Given the description of an element on the screen output the (x, y) to click on. 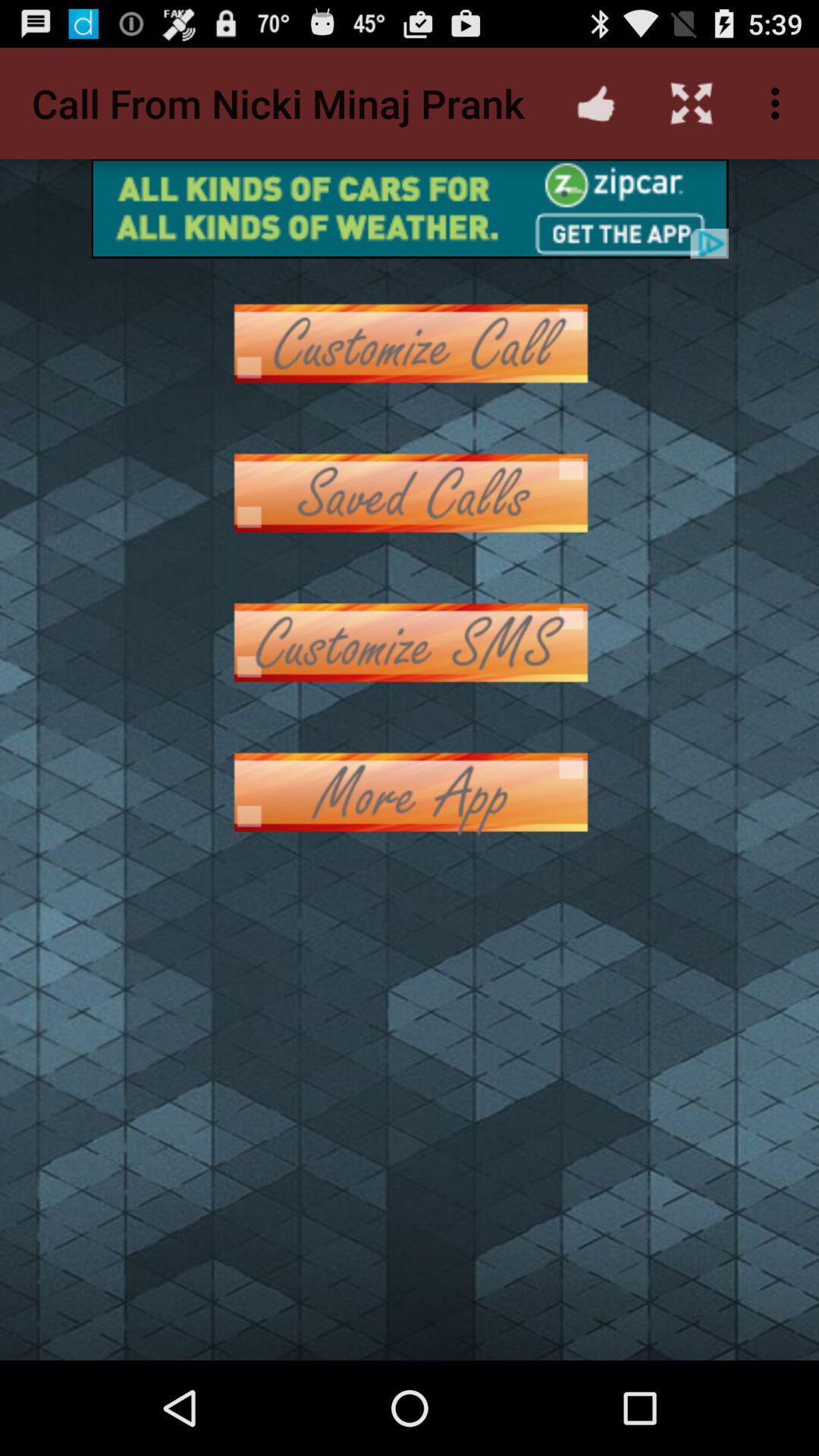
call to a certain people (409, 343)
